Given the description of an element on the screen output the (x, y) to click on. 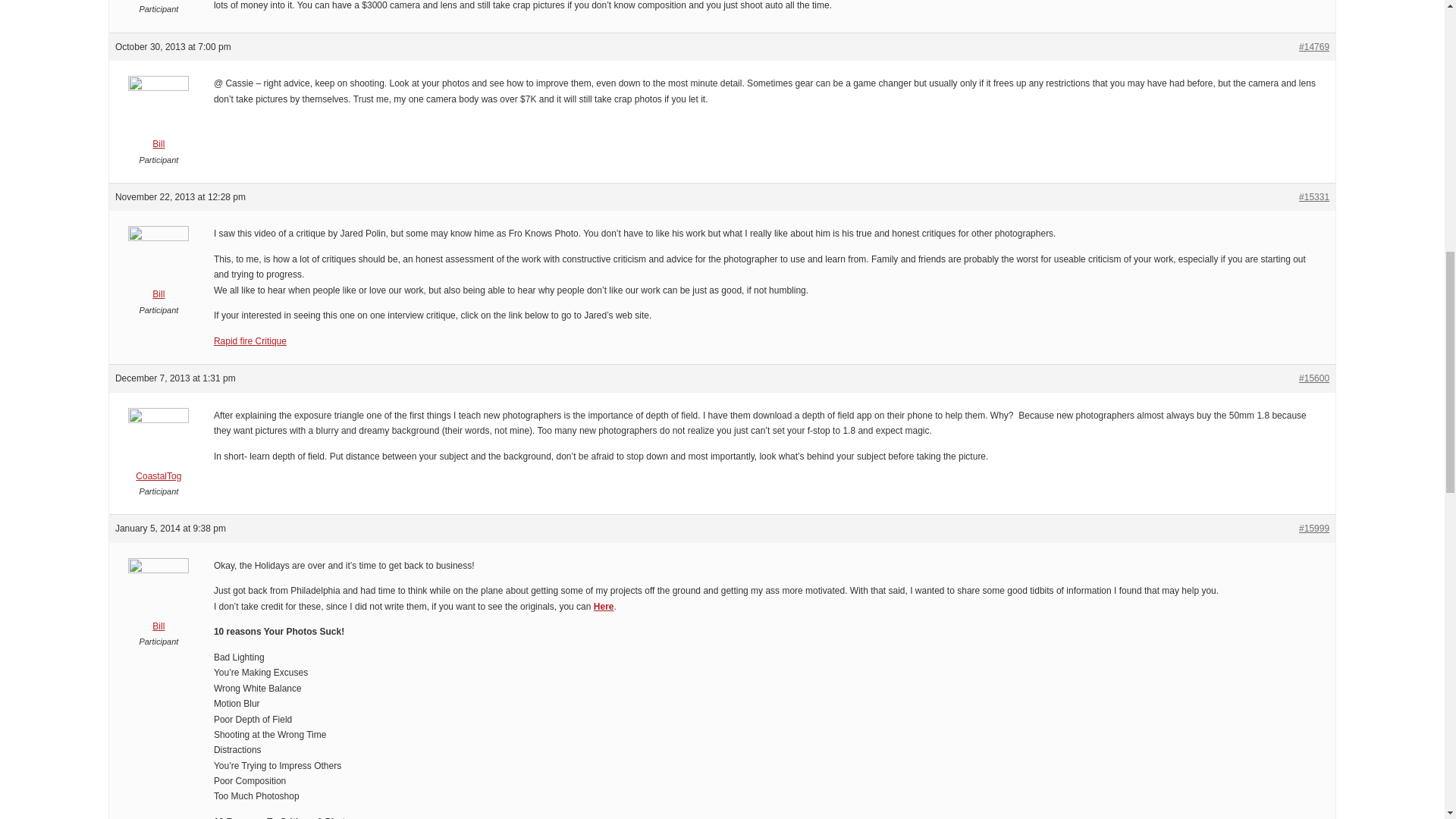
View CoastalTog's profile (158, 449)
cassie (158, 0)
View Bill's profile (158, 267)
Here (604, 606)
View cassie's profile (158, 0)
View Bill's profile (158, 116)
CoastalTog (158, 449)
Bill (158, 267)
Rapid fire Critique (250, 340)
Bill (158, 599)
